Given the description of an element on the screen output the (x, y) to click on. 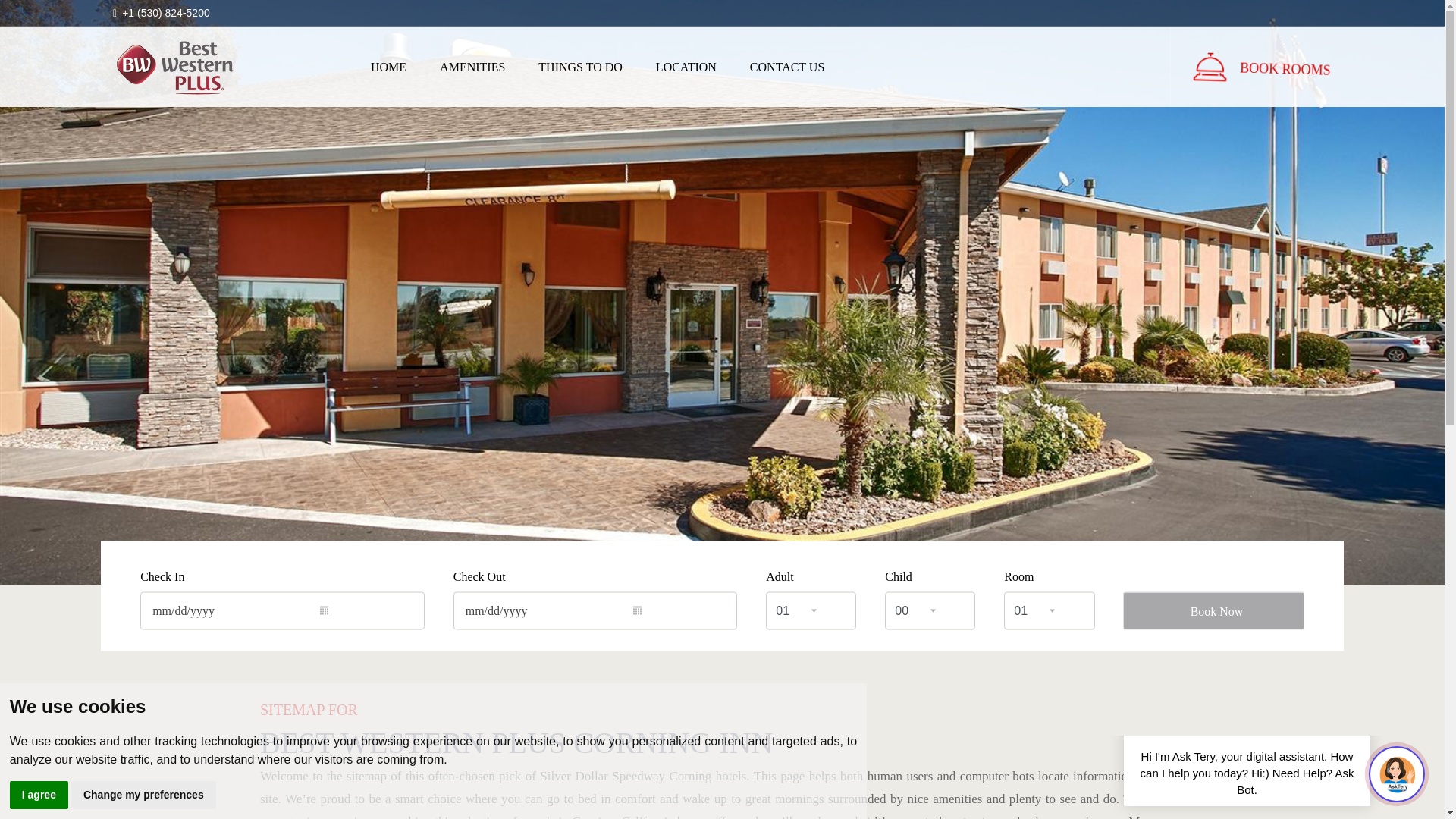
Change my preferences (143, 795)
HOME (388, 67)
AMENITIES (472, 67)
Direction to I-5 Corning, California Hotel (686, 67)
THINGS TO DO (580, 67)
Hotel in Corning, California Overview (388, 67)
CONTACT US (786, 67)
Book Now (1212, 610)
LOCATION (686, 67)
I agree (39, 795)
Amenities at Hotels in Corning, California (472, 67)
Things to do at Corning Hotels near Rolling Hills Casino (580, 67)
Contact Hotel in Corning CA (786, 67)
Book Now Best Western Plus Corning Inn (1281, 63)
BOOK ROOMS (1281, 60)
